Given the description of an element on the screen output the (x, y) to click on. 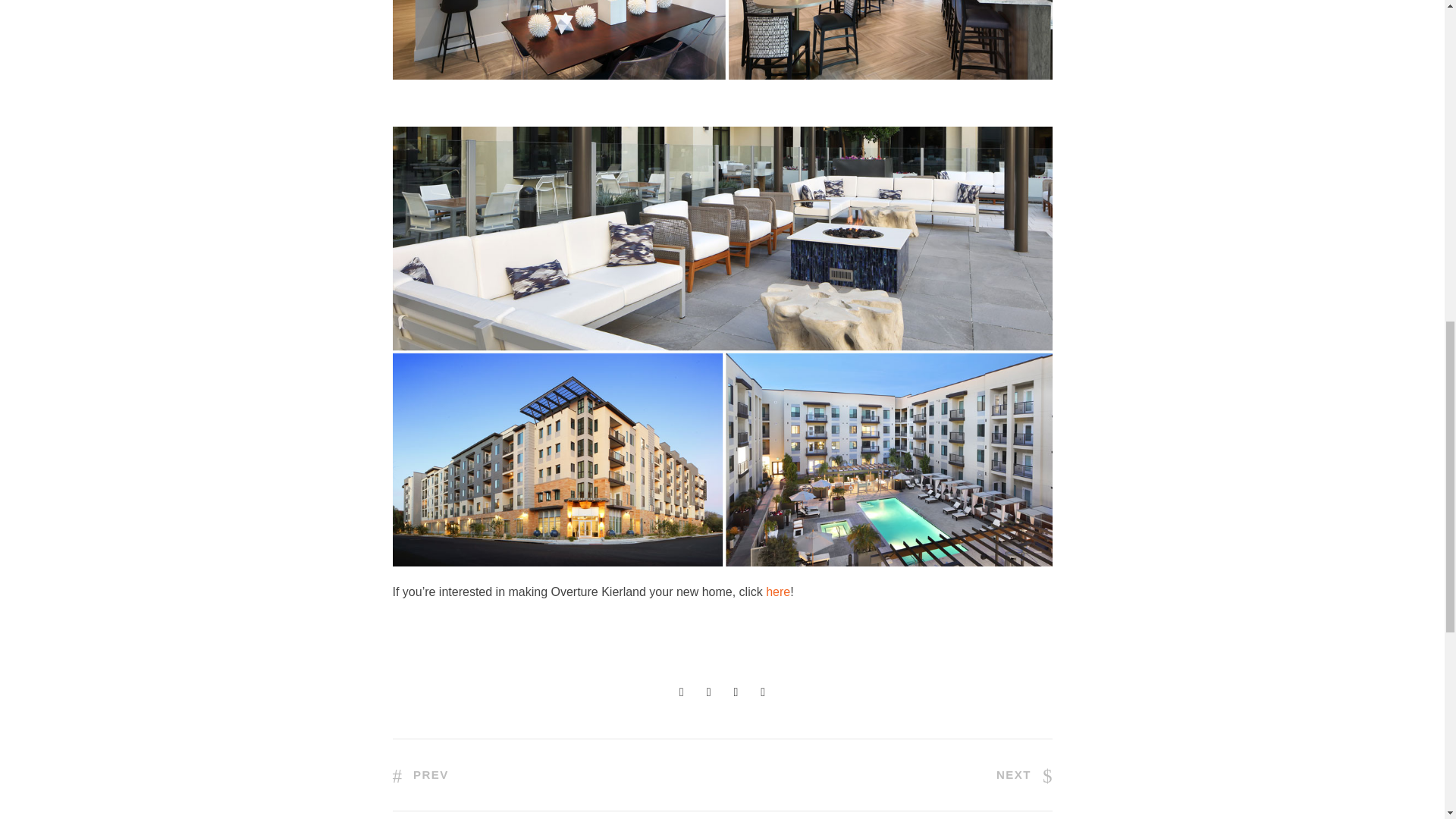
NEXT (1023, 774)
here (777, 591)
PREV (420, 774)
